Given the description of an element on the screen output the (x, y) to click on. 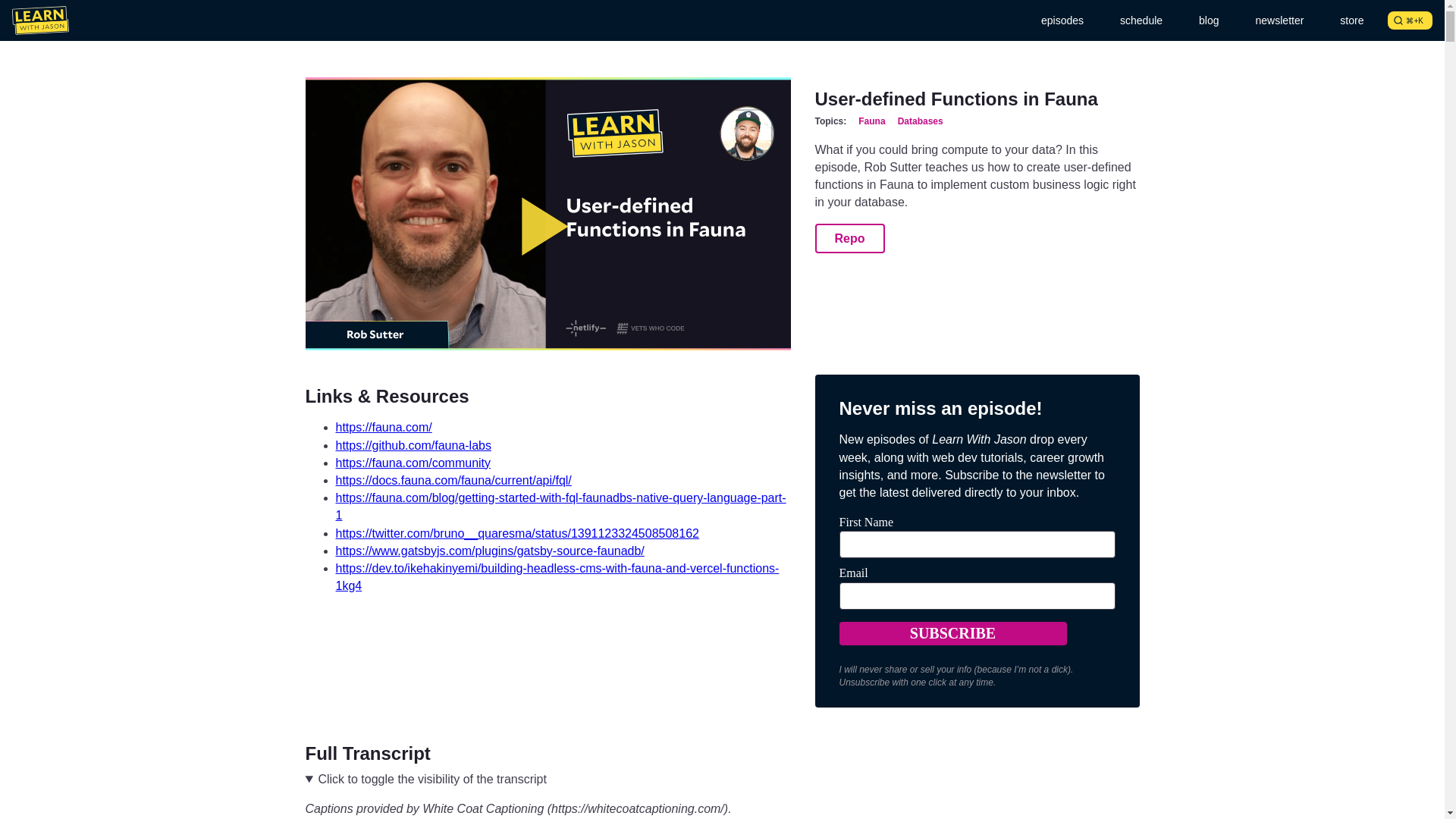
blog (1208, 20)
Fauna (872, 121)
schedule (1141, 20)
newsletter (1279, 20)
Repo (848, 238)
episodes (1062, 20)
Databases (920, 121)
SUBSCRIBE (951, 633)
store (1351, 20)
home (39, 20)
